Given the description of an element on the screen output the (x, y) to click on. 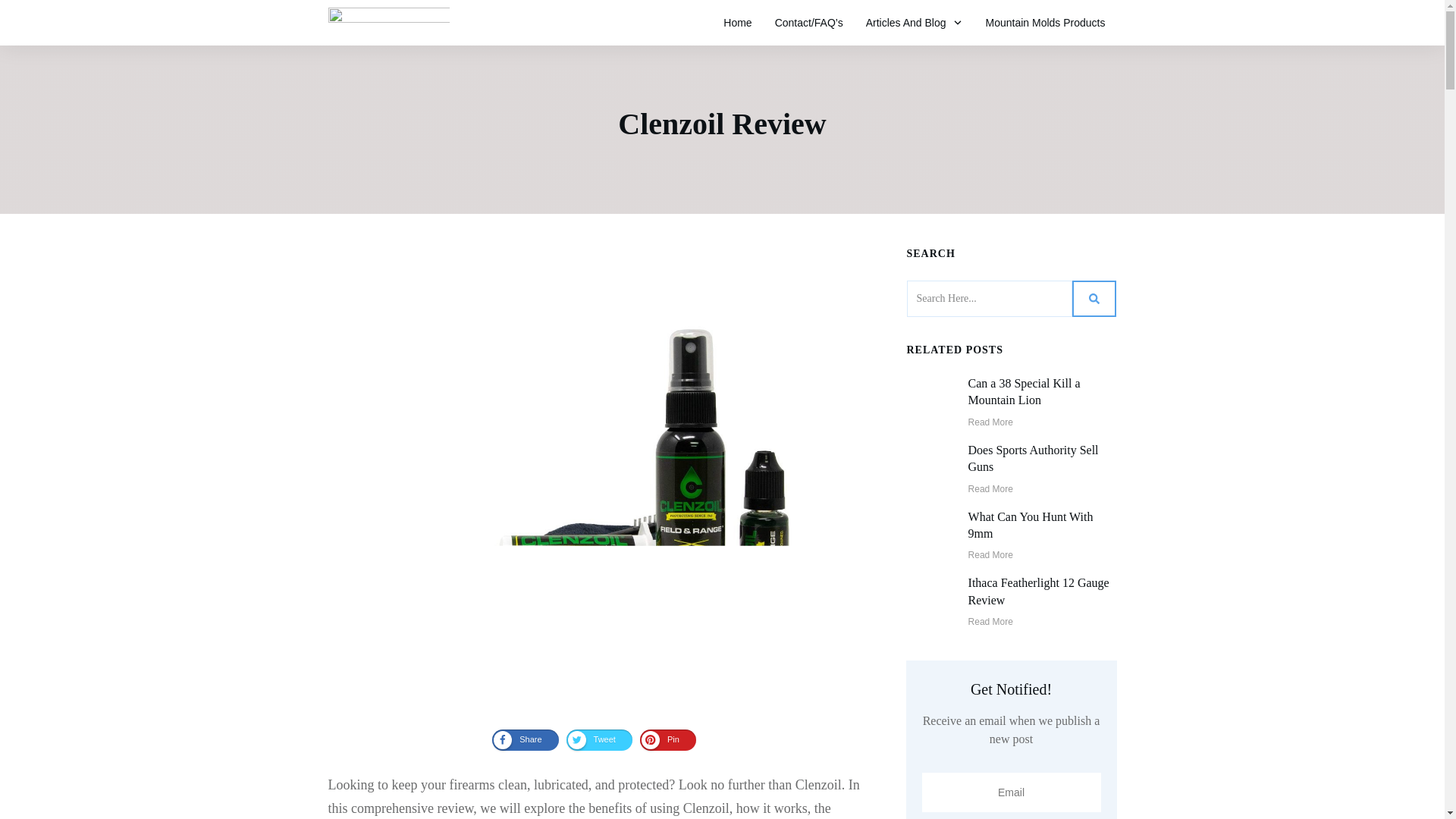
Read More (990, 621)
Home (737, 22)
Tweet (598, 740)
Share (524, 740)
Articles And Blog (914, 22)
Ithaca Featherlight 12 Gauge Review (1038, 591)
Clenzoil Review (721, 123)
What Can You Hunt With 9mm (1030, 524)
Read More (990, 489)
What Can You Hunt With 9mm (1030, 524)
